Given the description of an element on the screen output the (x, y) to click on. 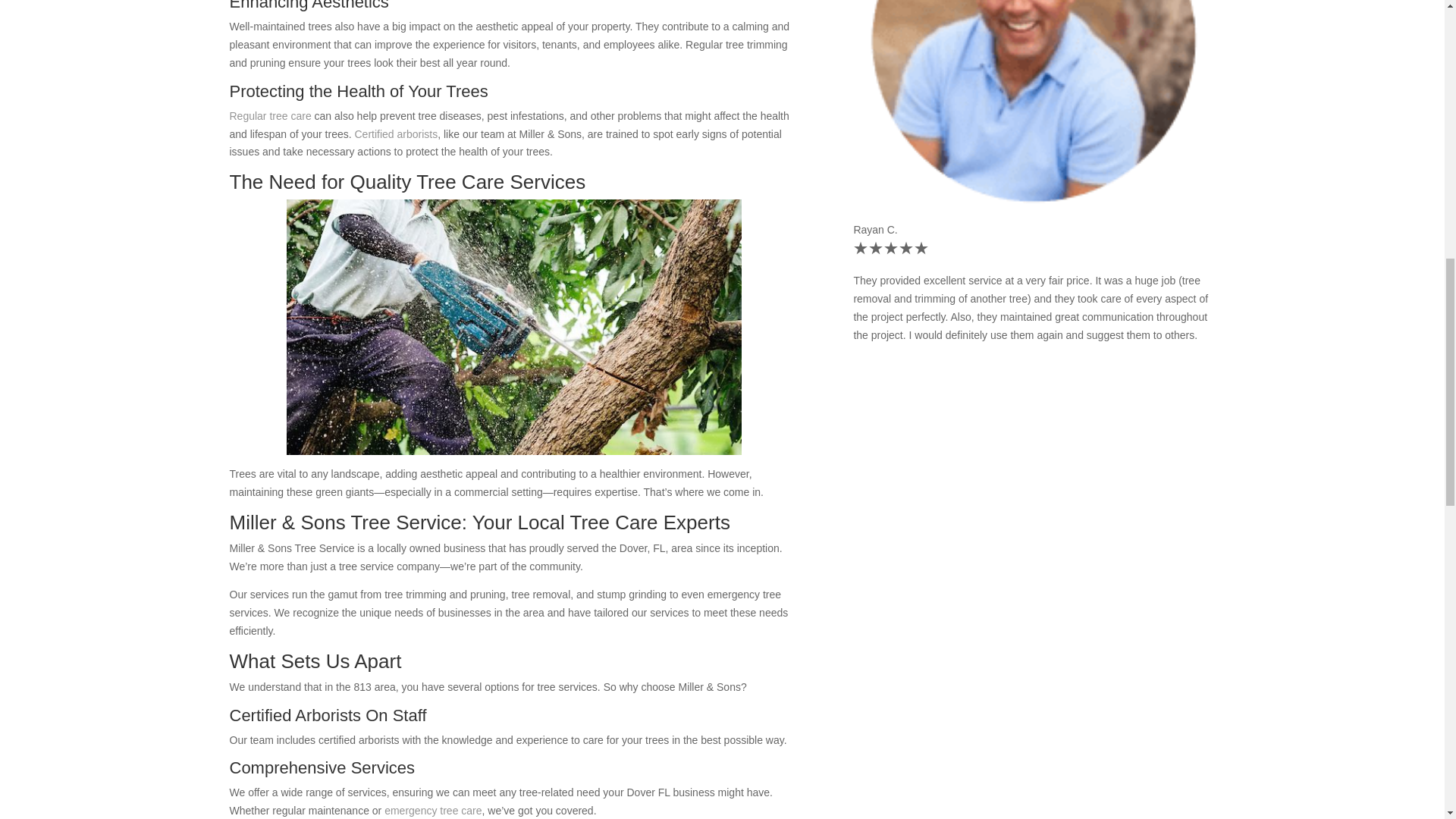
emergency tree care (432, 810)
Certified arborists (396, 133)
Regular tree care (269, 115)
